Given the description of an element on the screen output the (x, y) to click on. 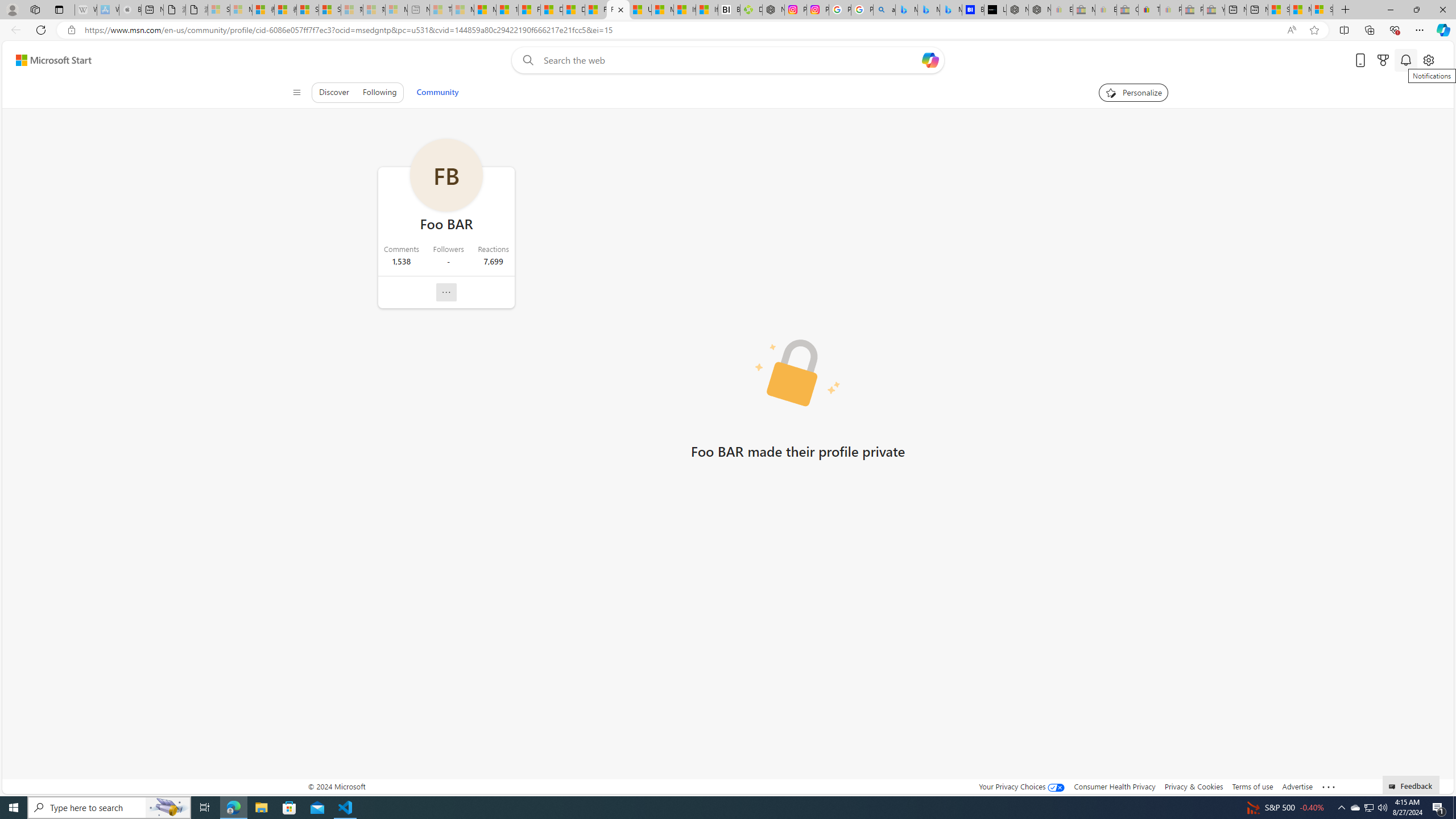
Class: cwt-icon-vector (445, 291)
Community (437, 92)
Microsoft Bing Travel - Flights from Hong Kong to Bangkok (907, 9)
